Given the description of an element on the screen output the (x, y) to click on. 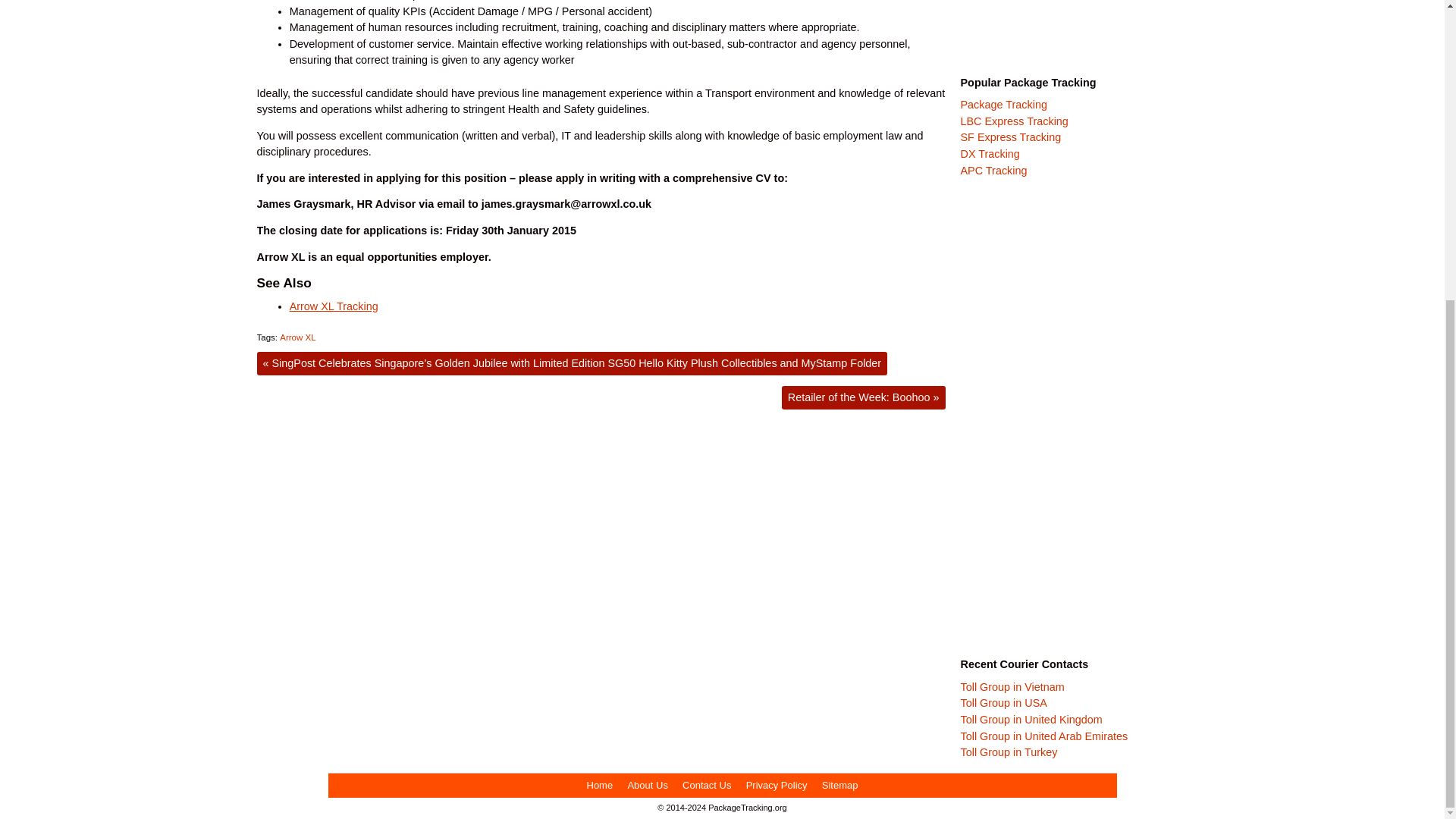
Toll Group in Vietnam (1011, 686)
Toll Group in United Kingdom (1030, 719)
Arrow XL Tracking (333, 306)
Toll Group in USA (1002, 702)
Toll Group in United Arab Emirates (1042, 736)
Contact Us (706, 785)
Sitemap (839, 785)
Advertisement (1073, 31)
Privacy Policy (776, 785)
Package Tracking (1002, 104)
